Given the description of an element on the screen output the (x, y) to click on. 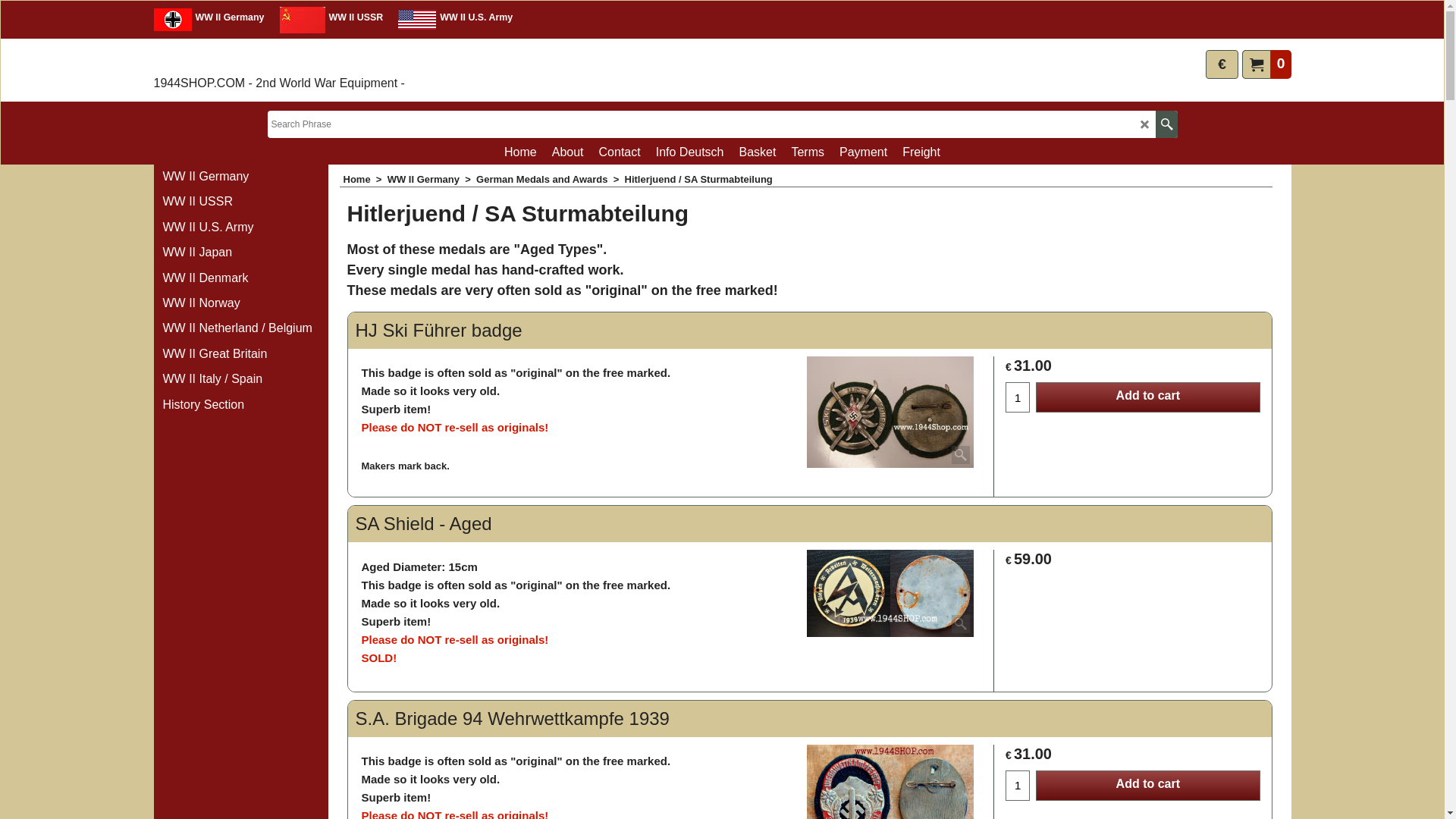
Add to cart Element type: text (1147, 785)
WW II Netherland / Belgium Element type: text (240, 328)
Basket Element type: text (757, 151)
WW II USSR Element type: text (240, 201)
WW II U.S. Army Element type: text (240, 227)
Contact Element type: text (619, 151)
WW II Germany  >  Element type: text (431, 179)
Freight Element type: text (920, 151)
1944SHOP.COM Element type: text (226, 61)
LD_CANCEL Element type: hover (1144, 123)
WW II Germany Element type: text (240, 176)
WW II U.S. Army Element type: text (451, 19)
German Medals and Awards  >  Element type: text (550, 179)
WW II Norway Element type: text (240, 303)
About Element type: text (567, 151)
WW II USSR Element type: text (330, 19)
History Section Element type: text (240, 404)
WW II Japan Element type: text (240, 252)
WW II Great Britain Element type: text (240, 354)
Home  >  Element type: text (364, 179)
WW II Italy / Spain Element type: text (240, 379)
0 Element type: text (1266, 63)
SA Shield - Aged Element type: hover (889, 593)
Home Element type: text (520, 151)
Info Deutsch Element type: text (689, 151)
1 Element type: text (1017, 396)
WW II Germany Element type: text (212, 19)
WW II Denmark Element type: text (240, 278)
Payment Element type: text (862, 151)
1 Element type: text (1017, 785)
Find Element type: hover (1166, 124)
Add to cart Element type: text (1147, 396)
Terms Element type: text (807, 151)
